Given the description of an element on the screen output the (x, y) to click on. 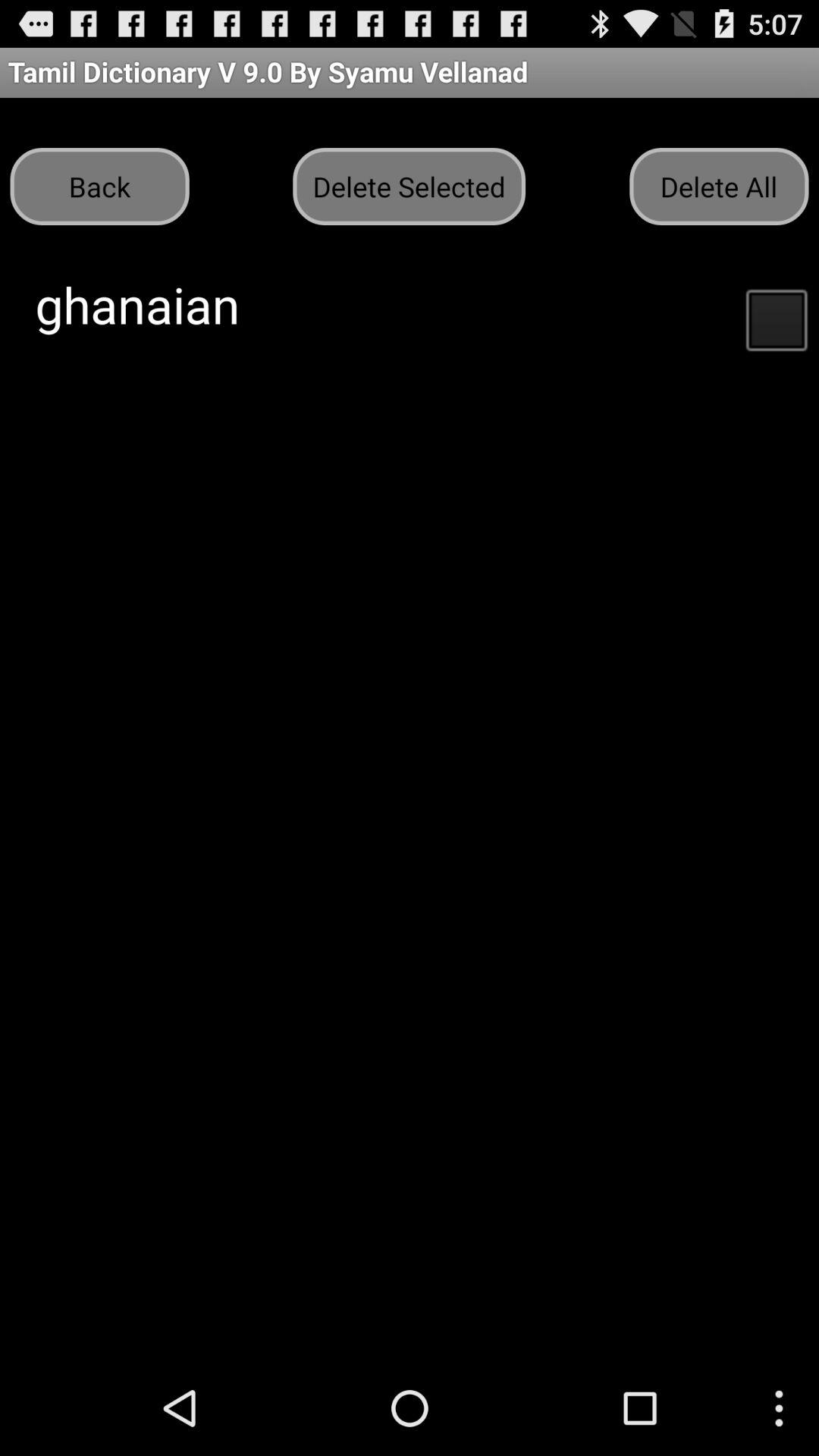
click button next to the delete selected (718, 186)
